Given the description of an element on the screen output the (x, y) to click on. 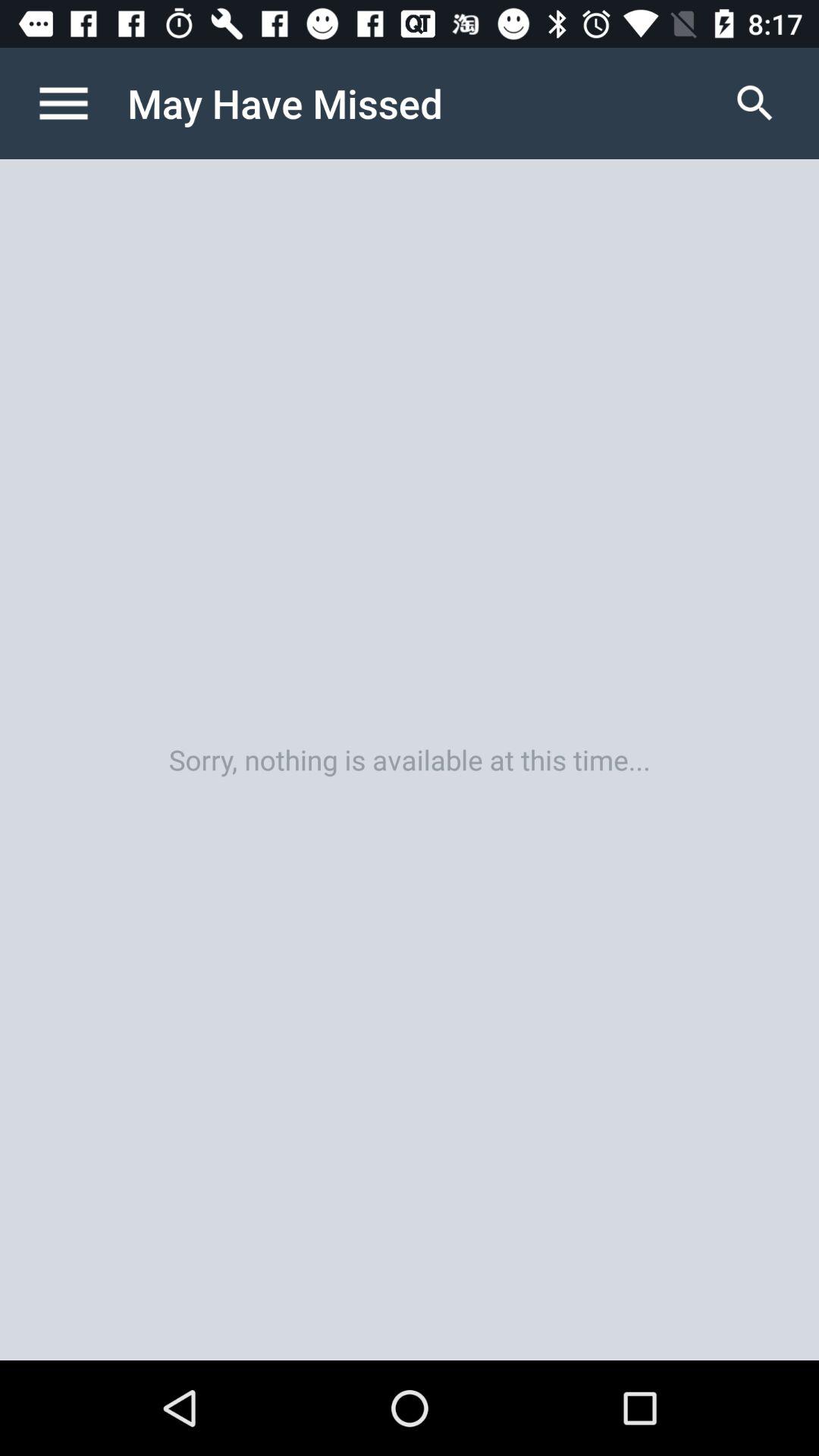
turn off the icon above the sorry nothing is (79, 103)
